Given the description of an element on the screen output the (x, y) to click on. 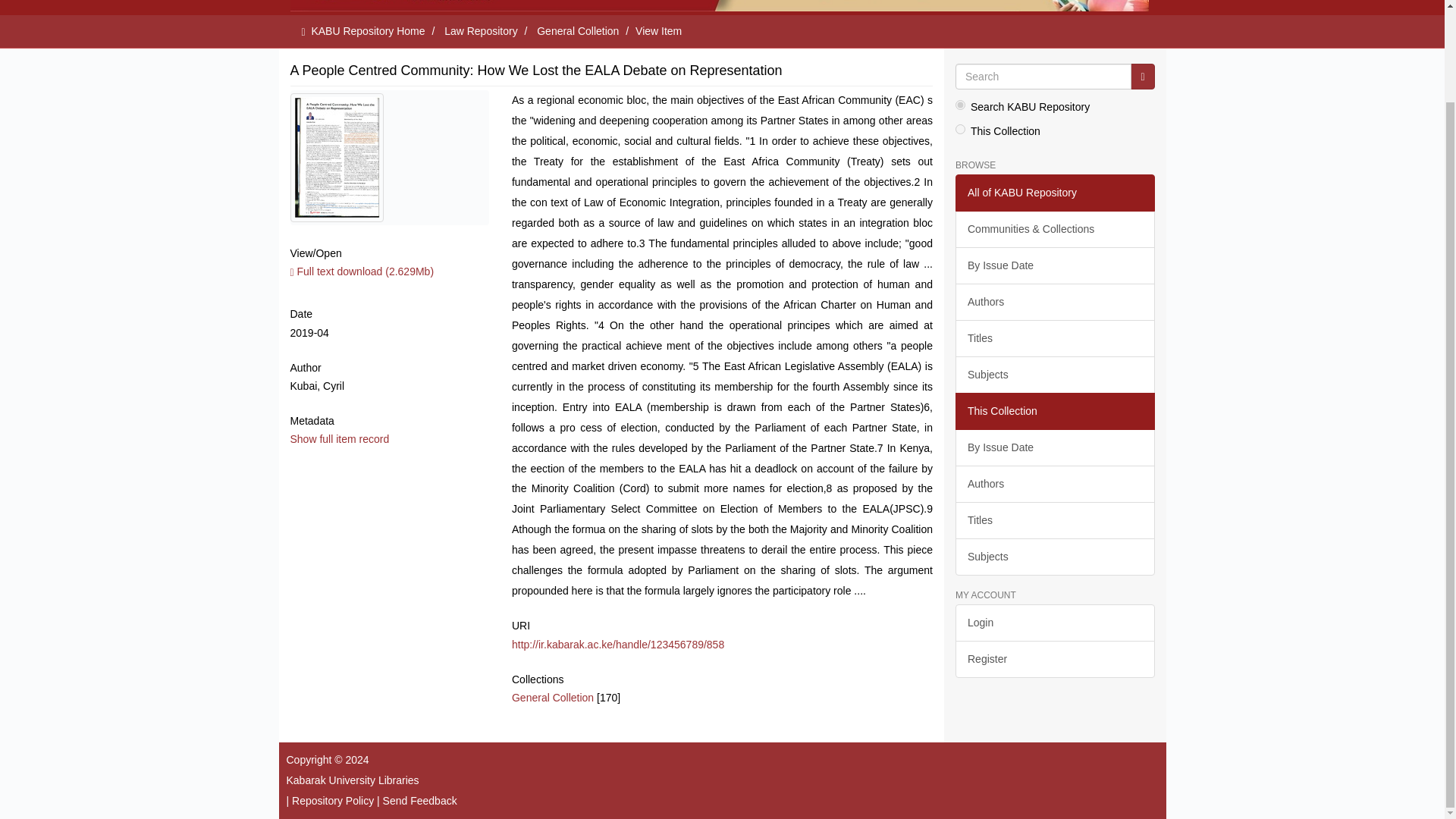
Authors (1054, 484)
Show full item record (338, 439)
Authors (1054, 302)
Titles (1054, 520)
Login (1054, 622)
UoN Quality Policy (333, 800)
By Issue Date (1054, 265)
By Issue Date (1054, 447)
General Colletion (553, 697)
General Colletion (577, 30)
